Given the description of an element on the screen output the (x, y) to click on. 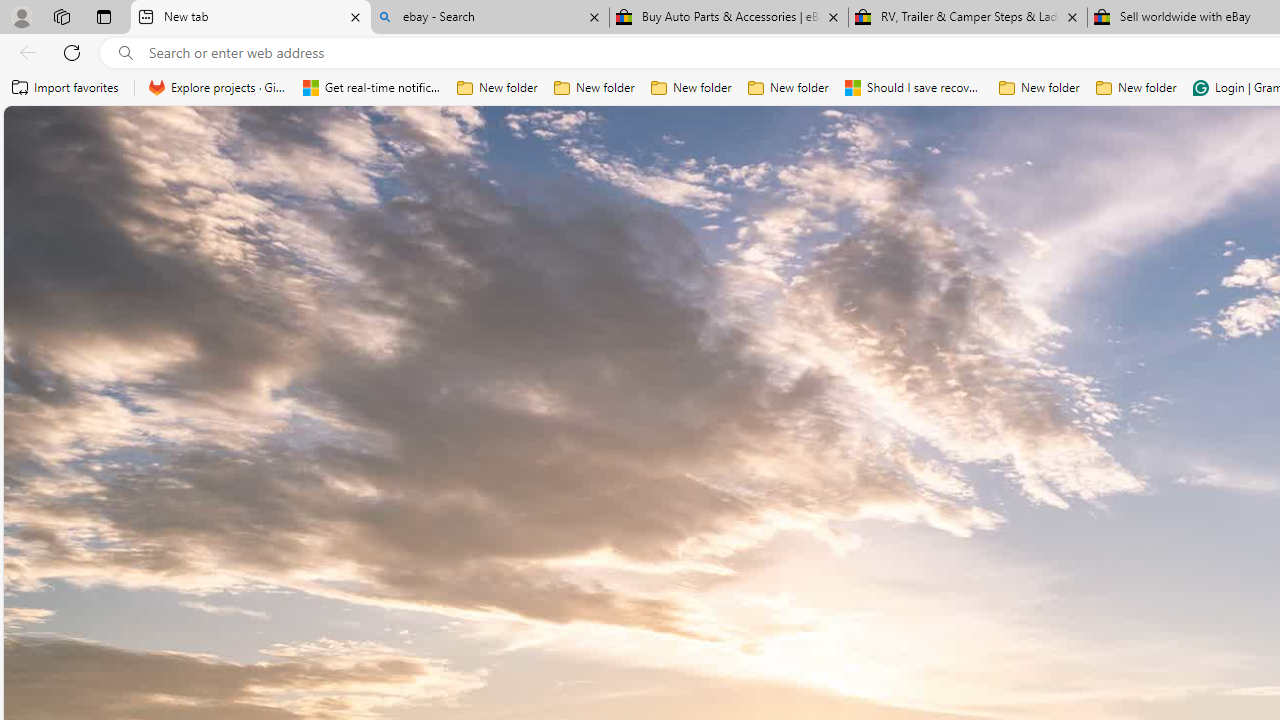
99 Like (1149, 574)
AutomationID: tab-13 (733, 576)
116 Like (535, 574)
View comments 96 Comment (11, 575)
View comments 8 Comment (1229, 575)
